Given the description of an element on the screen output the (x, y) to click on. 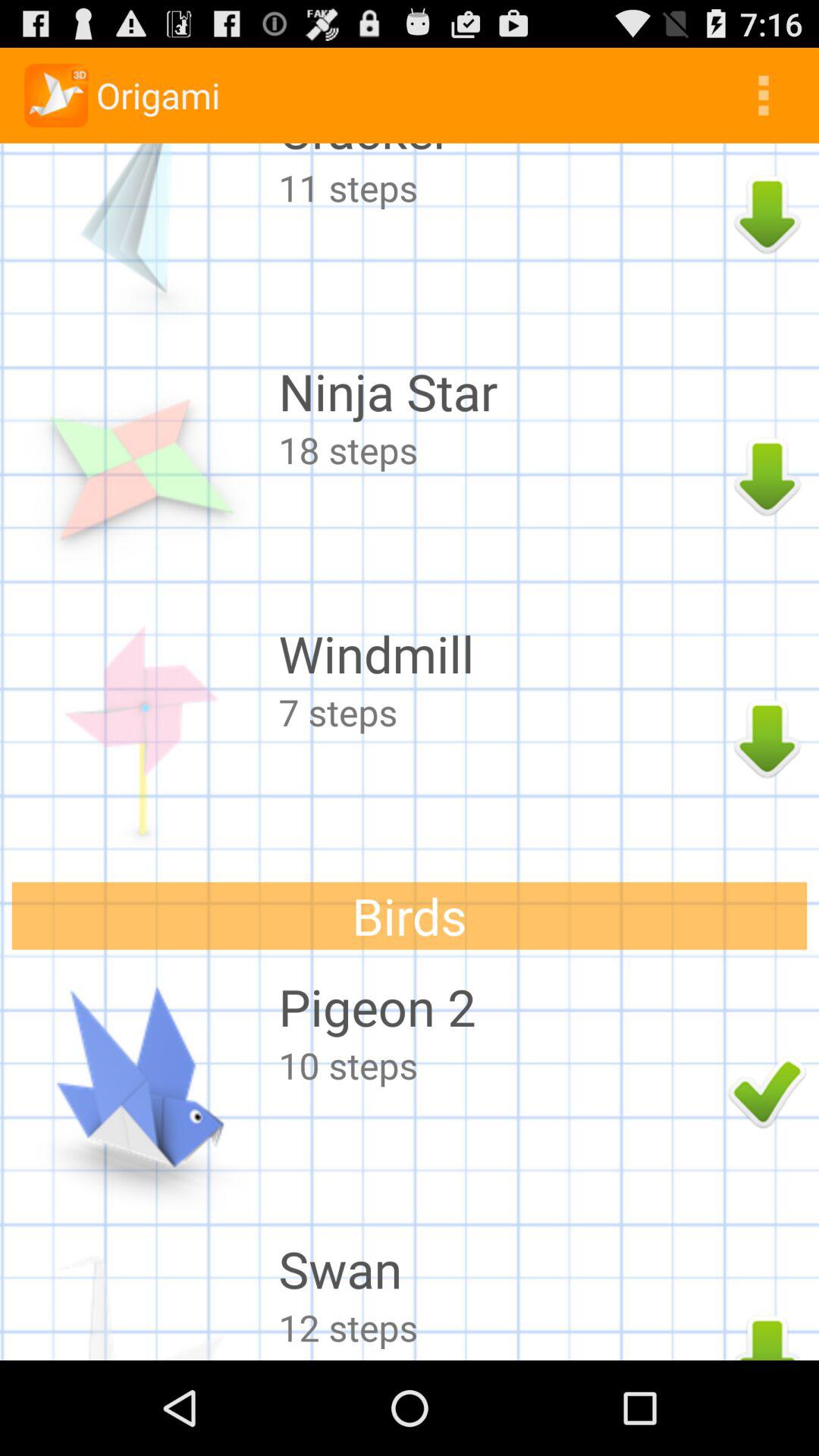
scroll until cracker item (498, 153)
